Given the description of an element on the screen output the (x, y) to click on. 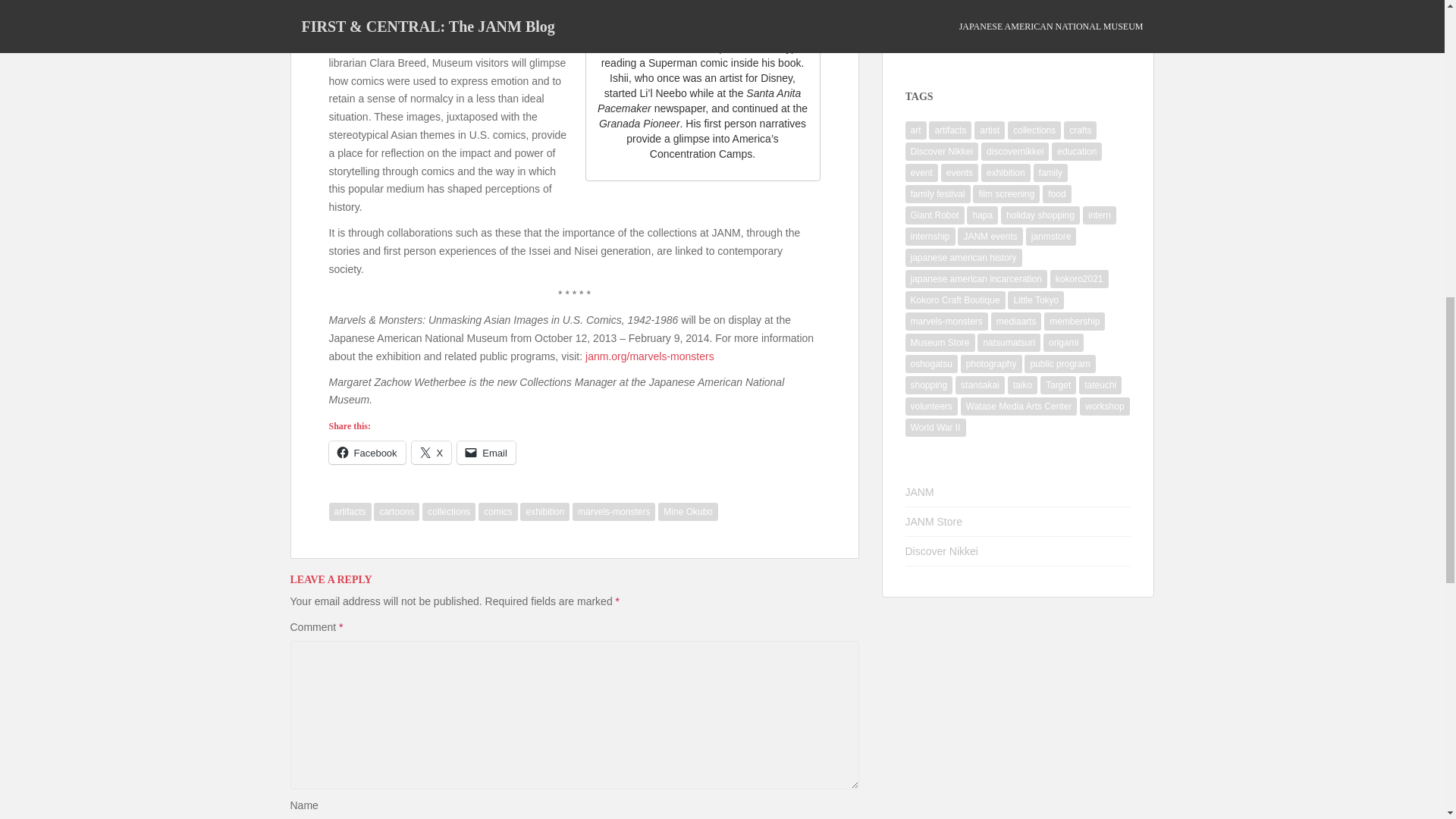
comics (497, 511)
Mine Okubo (687, 511)
exhibition (544, 511)
artifacts (350, 511)
Click to email a link to a friend (486, 452)
Click to share on Facebook (367, 452)
collections (449, 511)
Click to share on X (431, 452)
marvels-monsters (613, 511)
Email (486, 452)
Facebook (367, 452)
X (431, 452)
cartoons (396, 511)
